Given the description of an element on the screen output the (x, y) to click on. 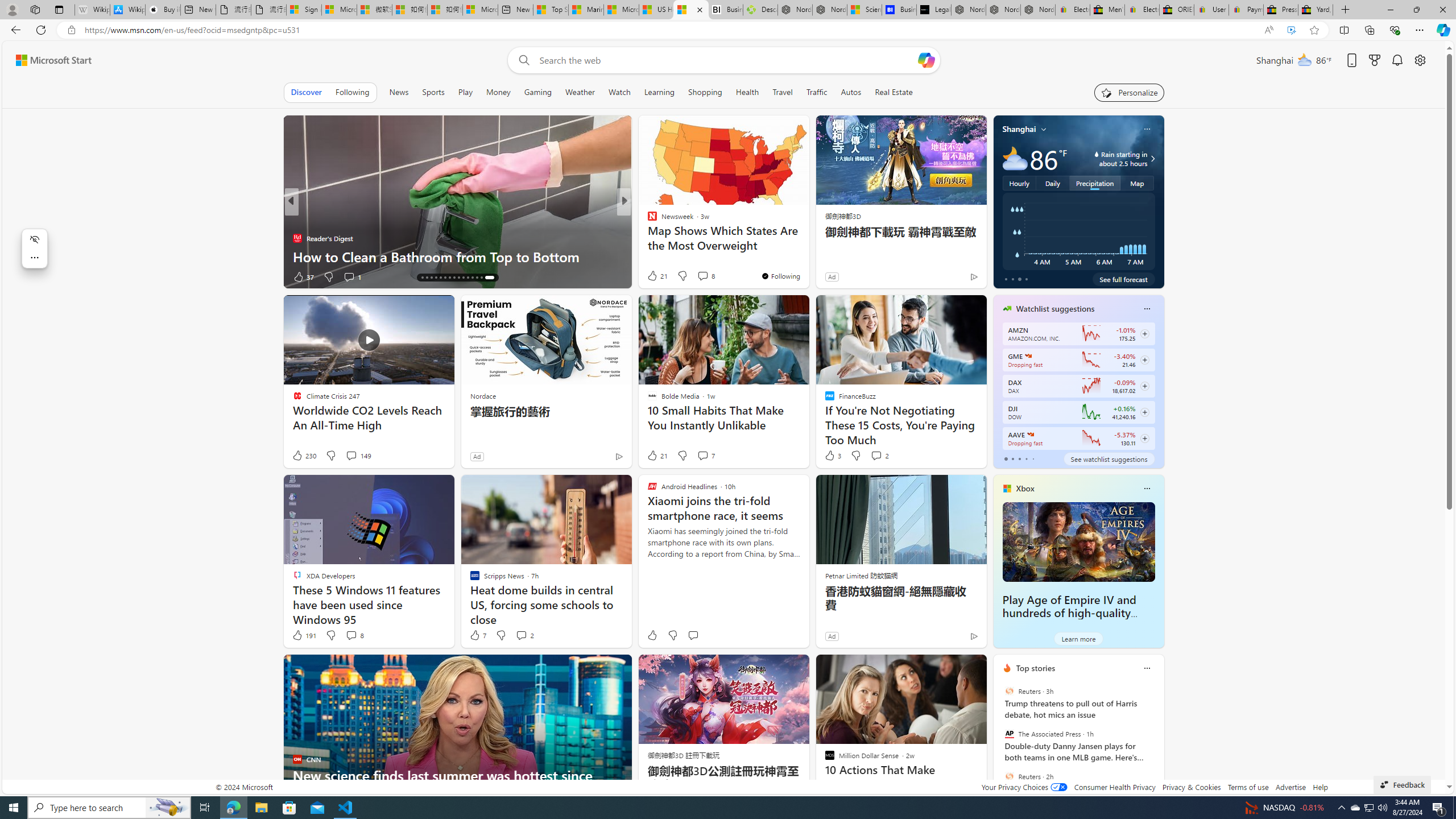
Play (465, 92)
What to know about Telegram CEO Pavel Durov (807, 256)
Health (746, 92)
View comments 157 Comment (709, 276)
Gaming (537, 92)
Microsoft account | Account Checkup (479, 9)
GAMESTOP CORP. (1028, 355)
